Given the description of an element on the screen output the (x, y) to click on. 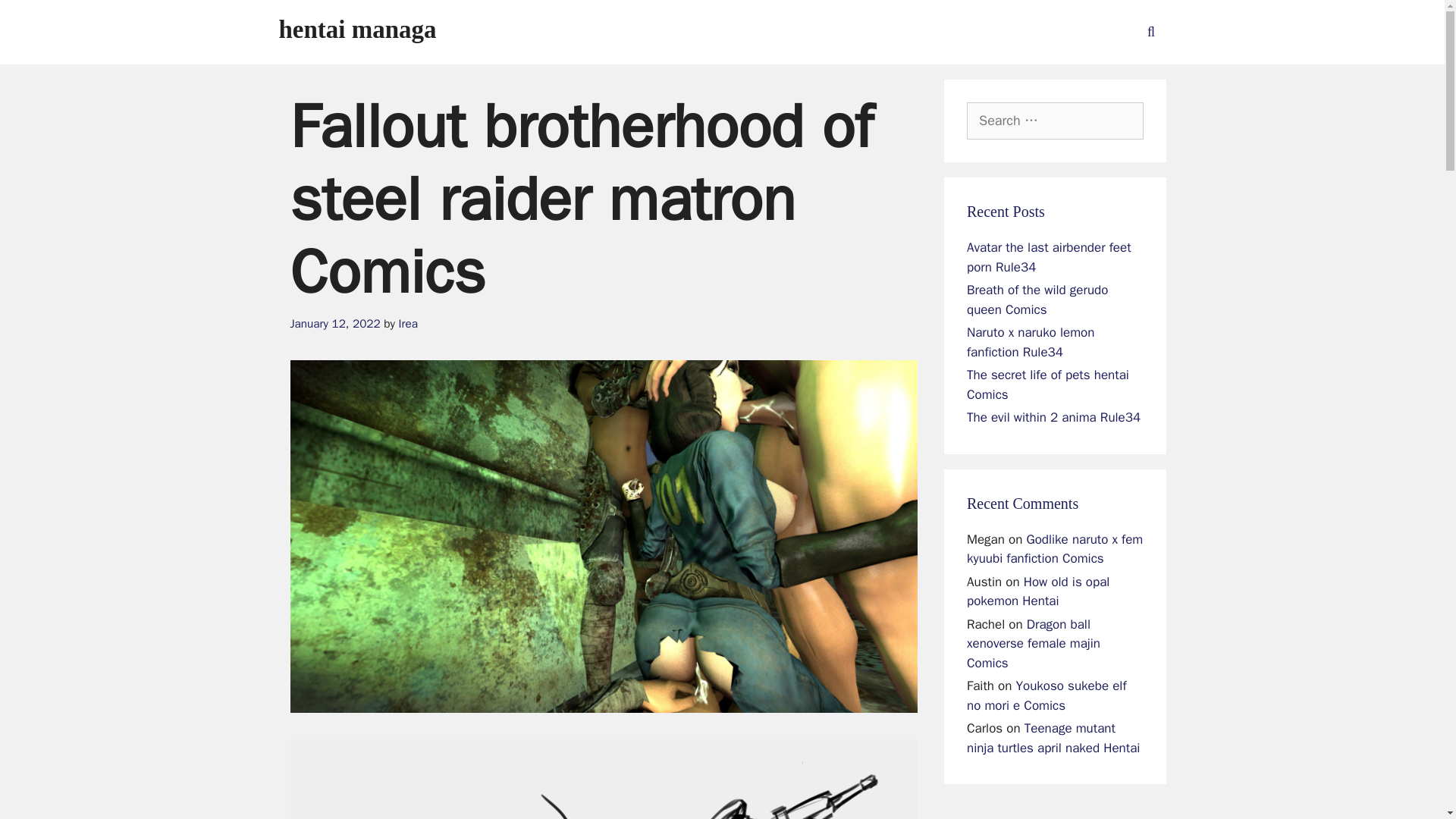
Godlike naruto x fem kyuubi fanfiction Comics (1054, 548)
Naruto x naruko lemon fanfiction Rule34 (1030, 342)
Search (35, 18)
Avatar the last airbender feet porn Rule34 (1048, 257)
Teenage mutant ninja turtles april naked Hentai (1053, 737)
Youkoso sukebe elf no mori e Comics (1046, 695)
The evil within 2 anima Rule34 (1053, 417)
Breath of the wild gerudo queen Comics (1037, 299)
January 12, 2022 (334, 323)
Search for: (1054, 120)
hentai managa (357, 29)
Irea (407, 323)
The secret life of pets hentai Comics (1047, 384)
11:09 am (334, 323)
How old is opal pokemon Hentai (1037, 591)
